Given the description of an element on the screen output the (x, y) to click on. 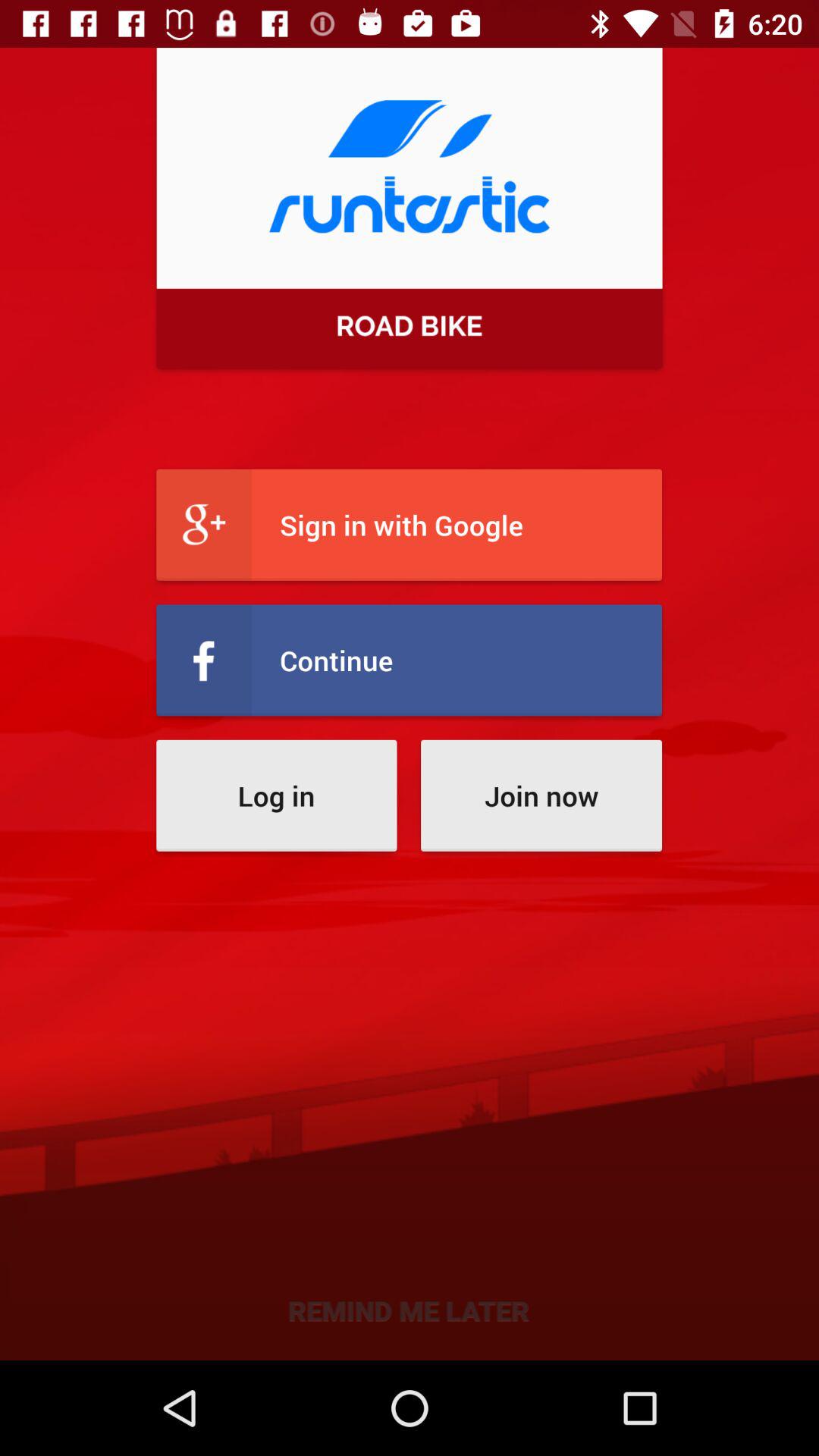
tap sign in with (409, 524)
